Given the description of an element on the screen output the (x, y) to click on. 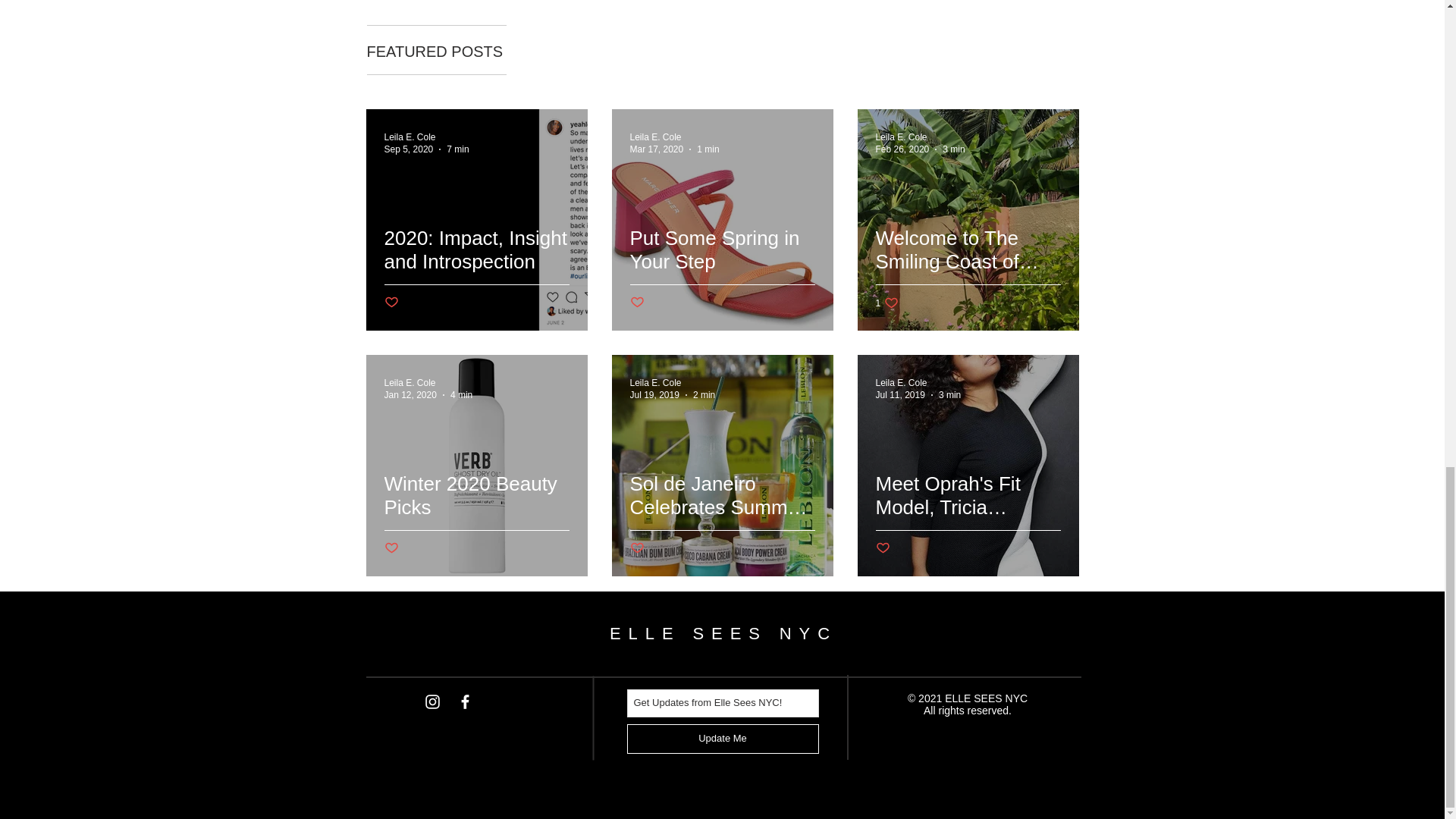
Sep 5, 2020 (408, 149)
ELLE SEES NYC (723, 633)
Leila E. Cole (654, 382)
Leila E. Cole (654, 136)
2 min (703, 394)
4 min (460, 394)
Leila E. Cole (886, 302)
7 min (900, 136)
Mar 17, 2020 (457, 149)
